Given the description of an element on the screen output the (x, y) to click on. 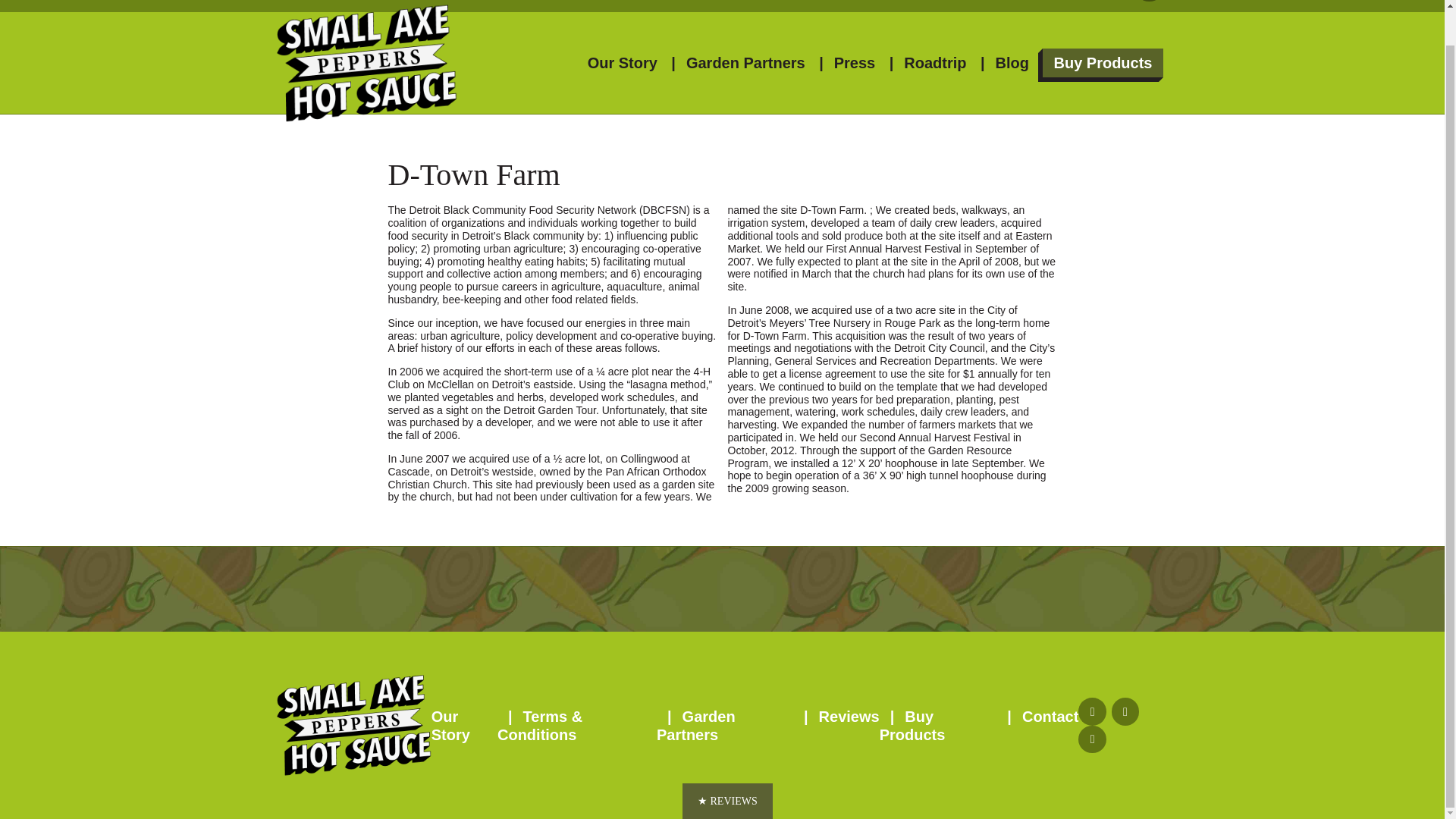
Garden Partners (695, 725)
Buy Products (911, 725)
Our Story (450, 725)
Buy Products (1101, 62)
Our Story (623, 62)
Garden Partners (745, 62)
Blog (1012, 62)
Contact (1050, 716)
Press (855, 62)
Roadtrip (935, 62)
